Given the description of an element on the screen output the (x, y) to click on. 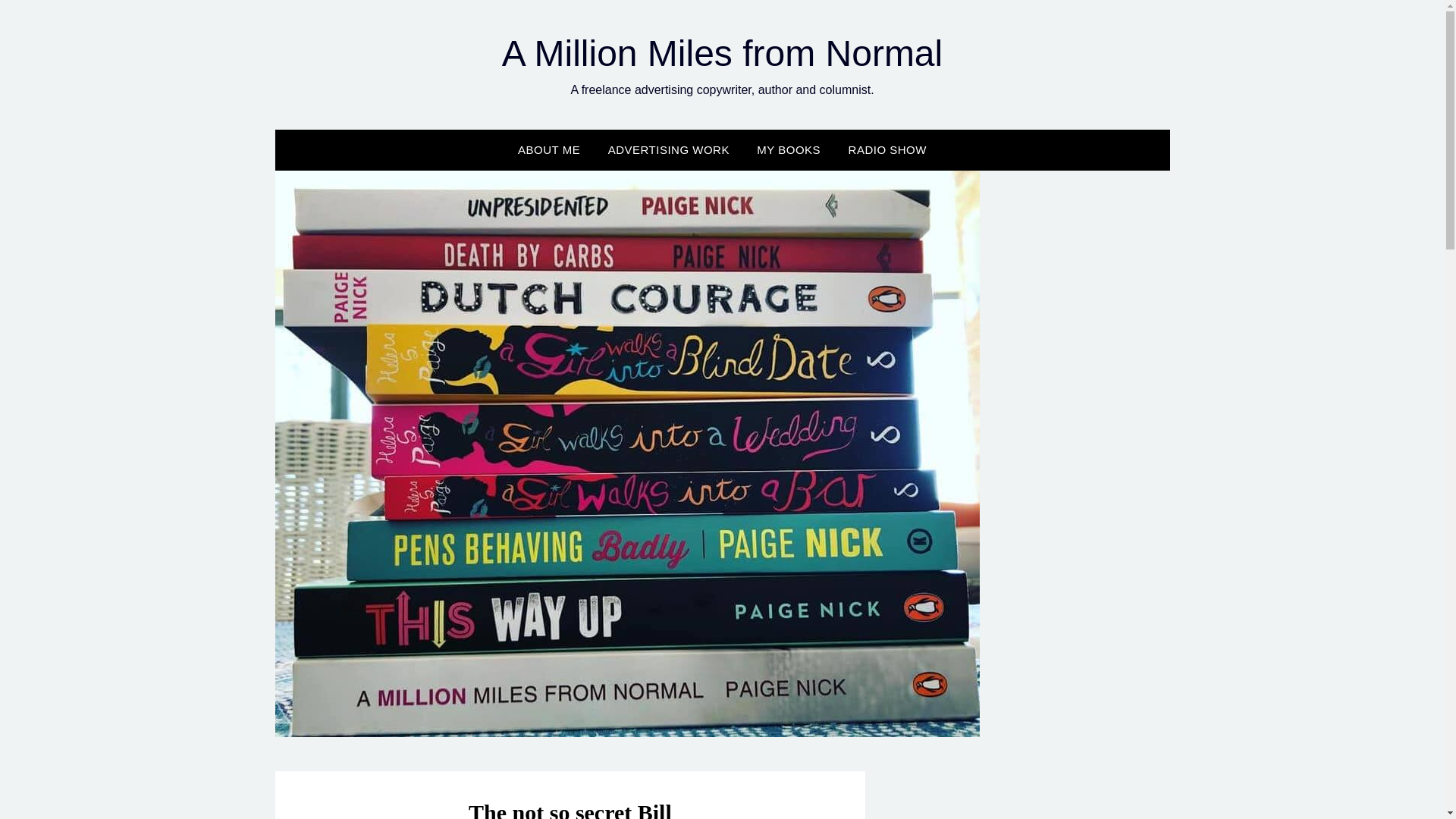
ADVERTISING WORK (668, 149)
MY BOOKS (788, 149)
RADIO SHOW (887, 149)
ABOUT ME (548, 149)
A Million Miles from Normal (722, 53)
